Given the description of an element on the screen output the (x, y) to click on. 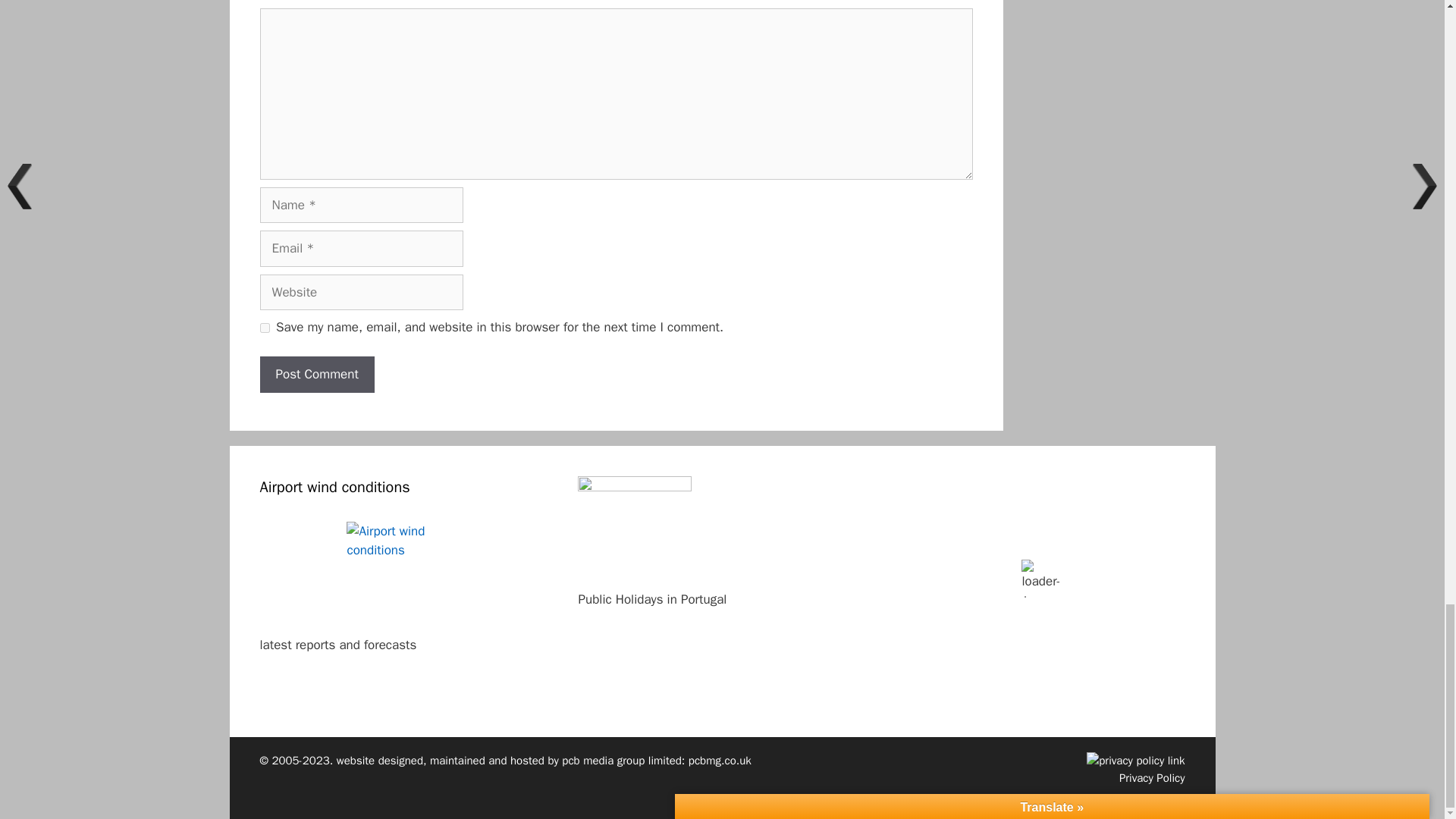
Post Comment (316, 374)
yes (264, 327)
Post Comment (316, 374)
